Given the description of an element on the screen output the (x, y) to click on. 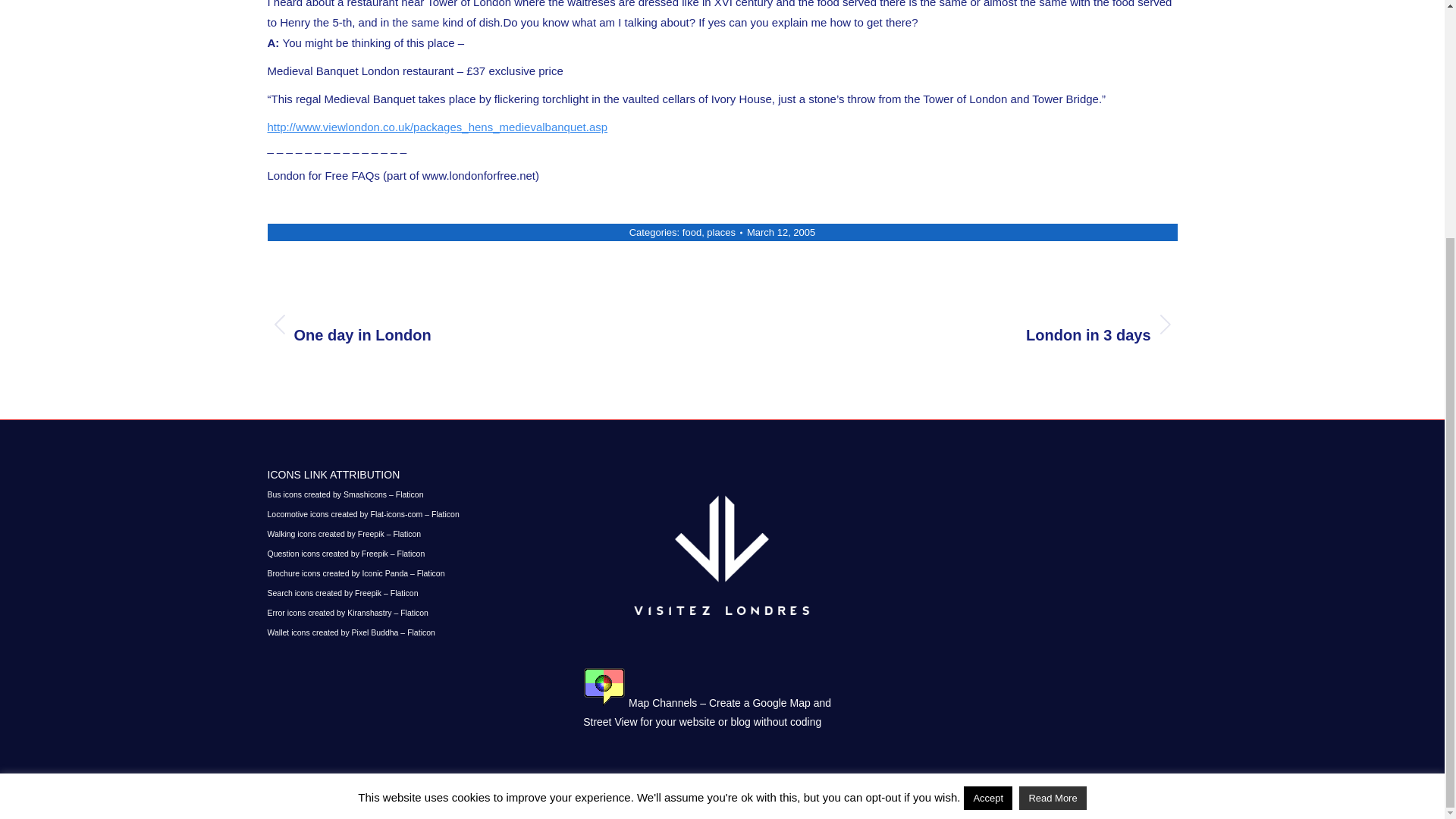
error icons (347, 612)
bus icons (344, 493)
3:19 pm (780, 231)
places (720, 232)
March 12, 2005 (780, 231)
brochure icons (355, 573)
wallet icons (349, 632)
question icons (482, 324)
walking icons (960, 324)
food (345, 552)
locomotive icons (343, 533)
search icons (691, 232)
